Given the description of an element on the screen output the (x, y) to click on. 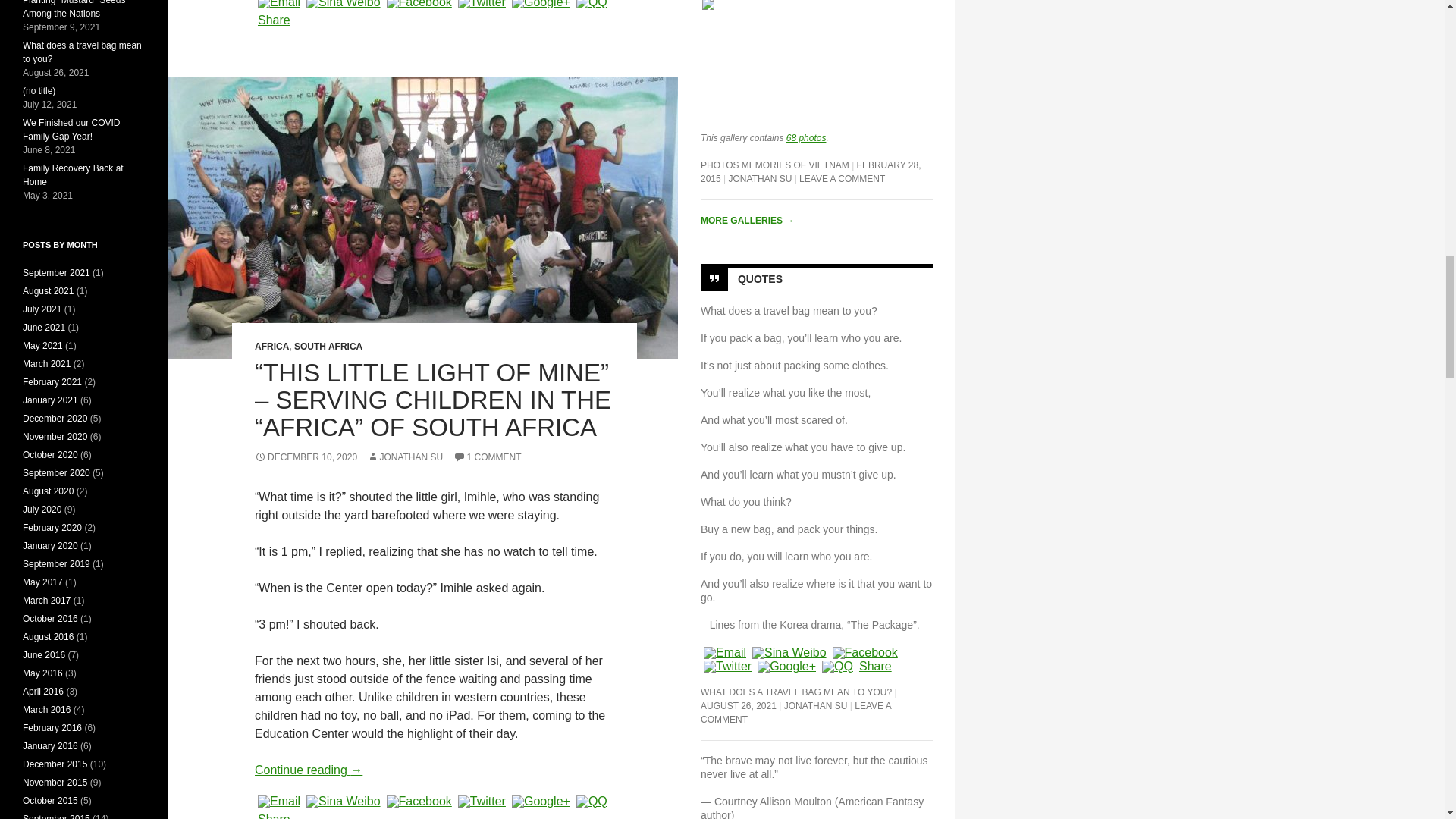
Sina Weibo (343, 801)
Twitter (481, 4)
Email (278, 801)
Twitter (481, 801)
Facebook (419, 4)
QQ (591, 4)
Email (278, 4)
Sina Weibo (343, 4)
Facebook (419, 801)
